Given the description of an element on the screen output the (x, y) to click on. 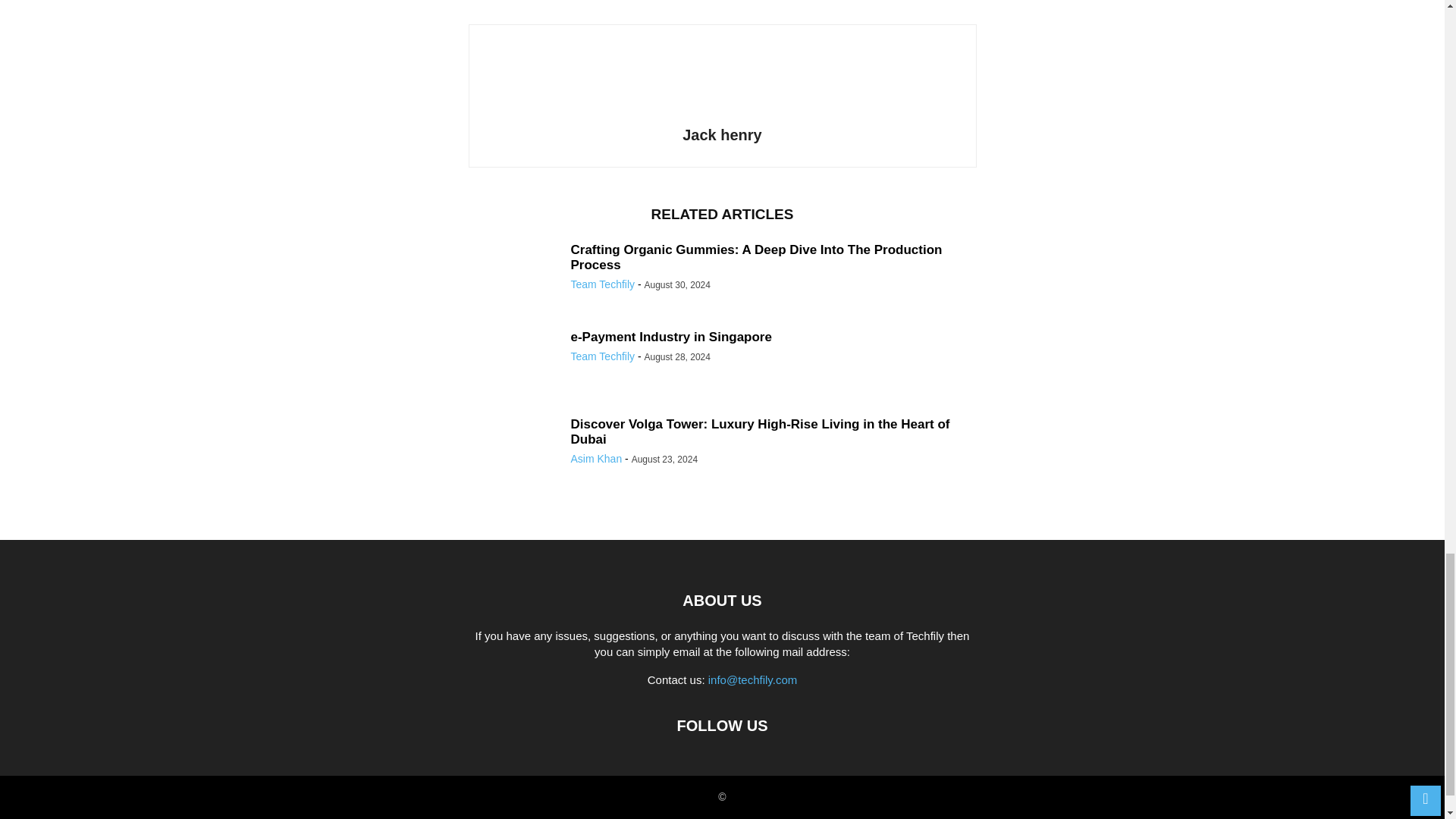
Asim Khan (595, 458)
Team Techfily (602, 356)
e-Payment Industry in Singapore (670, 336)
Team Techfily (602, 284)
Jack henry (721, 134)
